Given the description of an element on the screen output the (x, y) to click on. 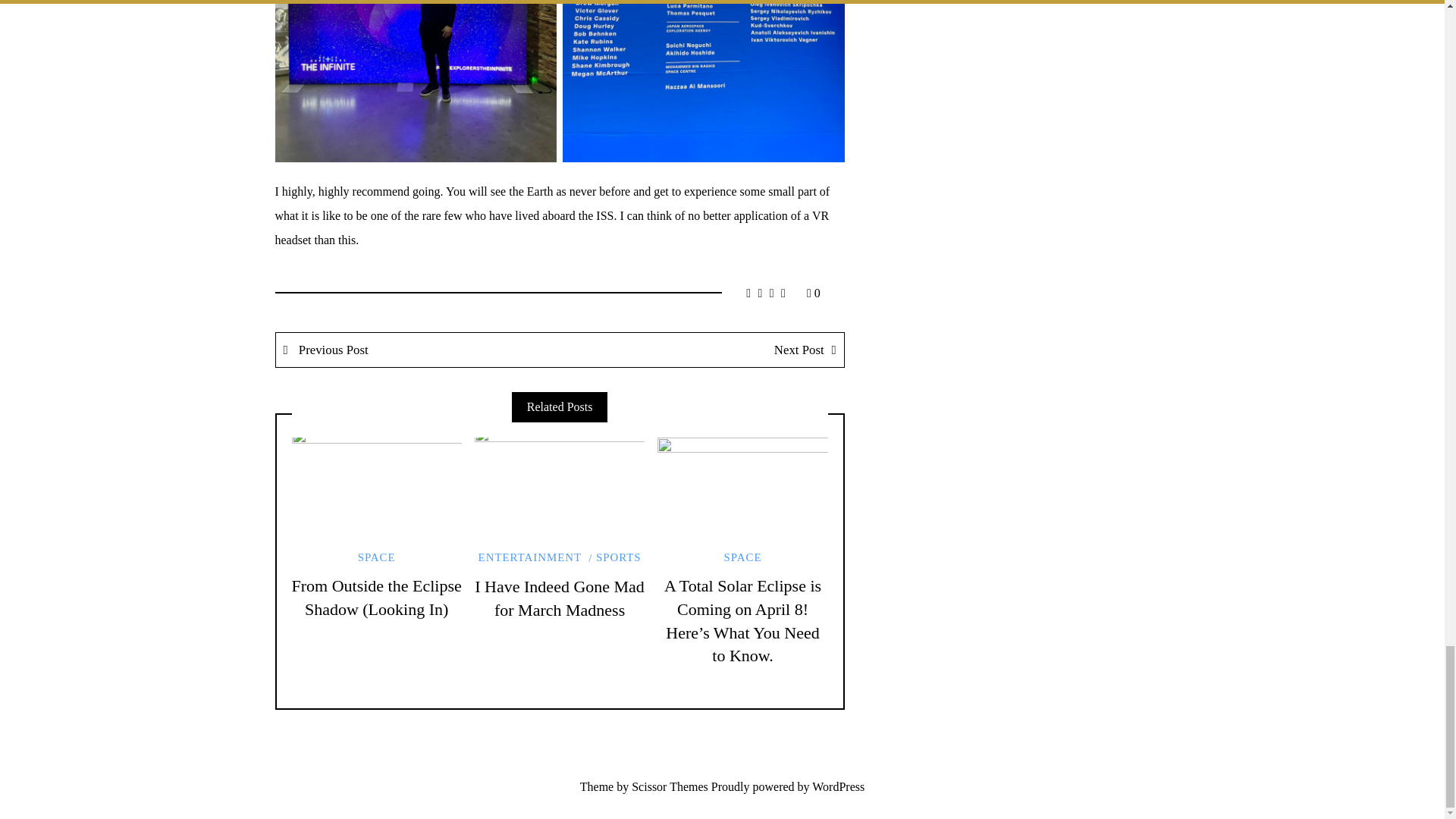
Permalink to: "I Have Indeed Gone Mad for March Madness" (559, 485)
I Have Indeed Gone Mad for March Madness (559, 598)
